Given the description of an element on the screen output the (x, y) to click on. 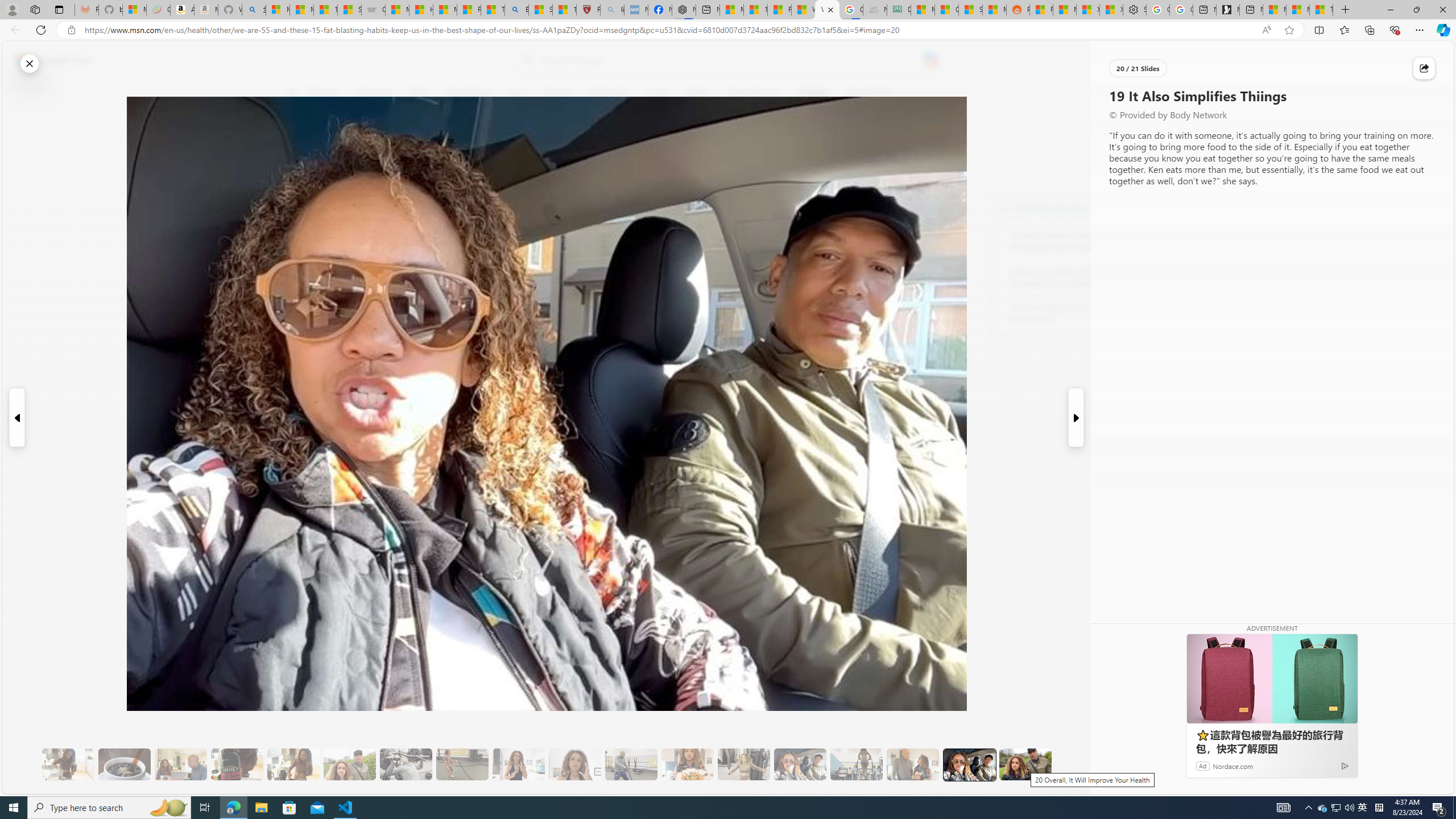
World News (468, 92)
Ad Choice (1344, 765)
8 They Walk to the Gym (349, 764)
Dislike (299, 170)
6 Like (299, 138)
13 Her Husband Does Group Cardio Classs (631, 764)
Combat Siege (373, 9)
Nordace - Nordace Siena Is Not An Ordinary Backpack (683, 9)
Entertainment (753, 92)
20 Overall, It Will Improve Your Health (1024, 764)
7 They Don't Skip Meals (293, 764)
Ad (1202, 765)
